Given the description of an element on the screen output the (x, y) to click on. 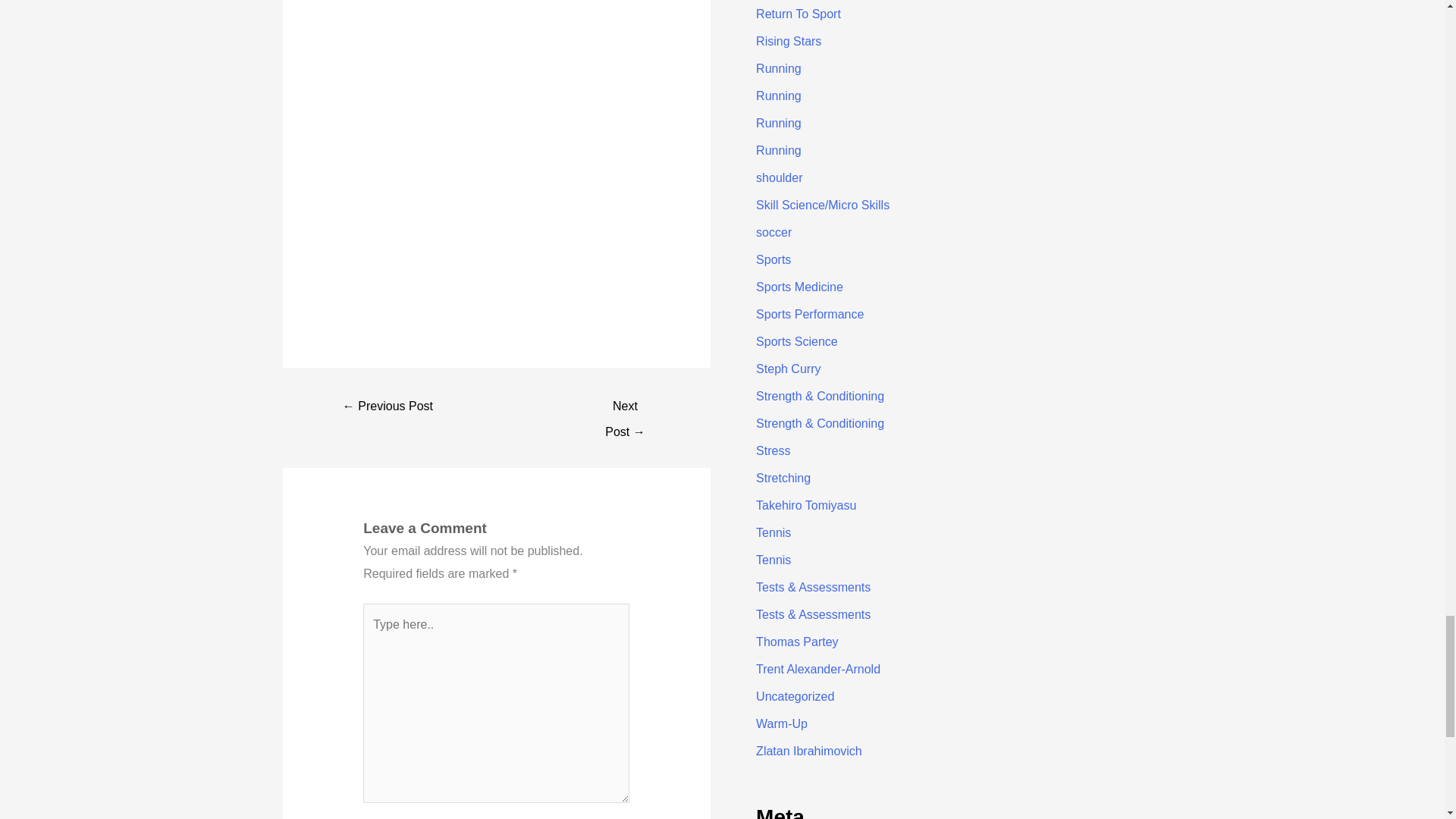
5 tips to reduce overstriding and increase running cadence (624, 407)
